Given the description of an element on the screen output the (x, y) to click on. 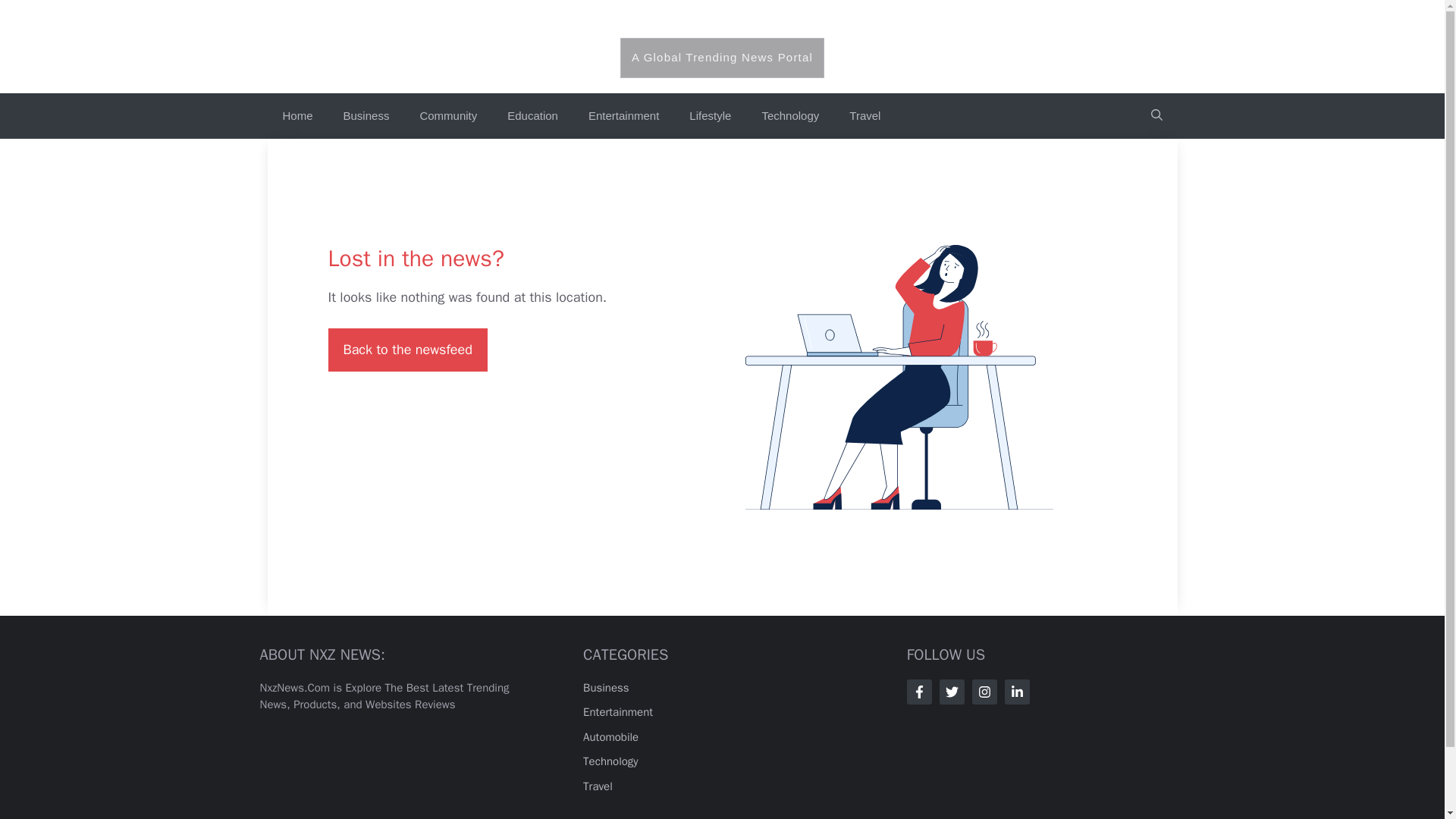
Travel (864, 115)
Technology (789, 115)
Entertainment (617, 712)
Automobile (611, 736)
Travel (597, 786)
Business (605, 687)
Education (532, 115)
Back to the newsfeed (406, 349)
NXZ News (720, 25)
Lifestyle (709, 115)
